Given the description of an element on the screen output the (x, y) to click on. 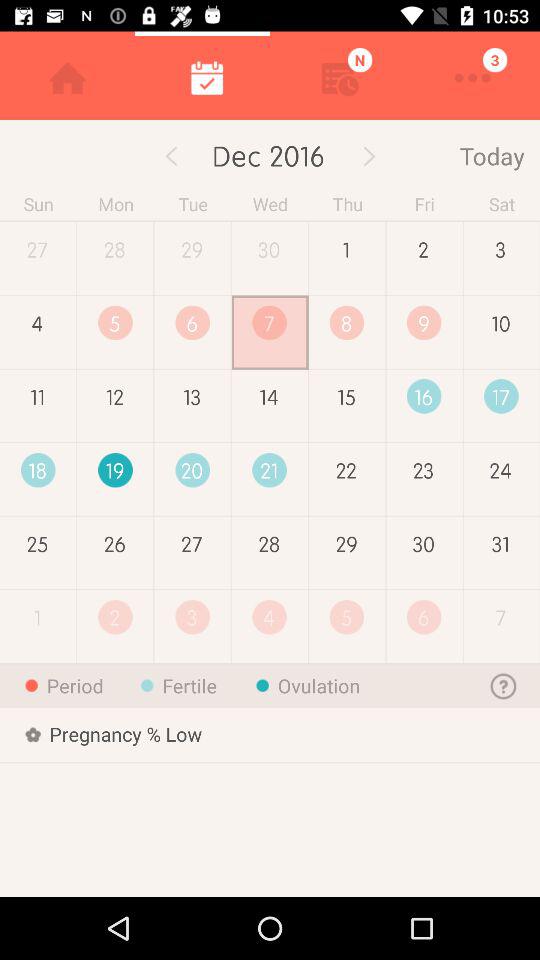
view information (503, 685)
